Given the description of an element on the screen output the (x, y) to click on. 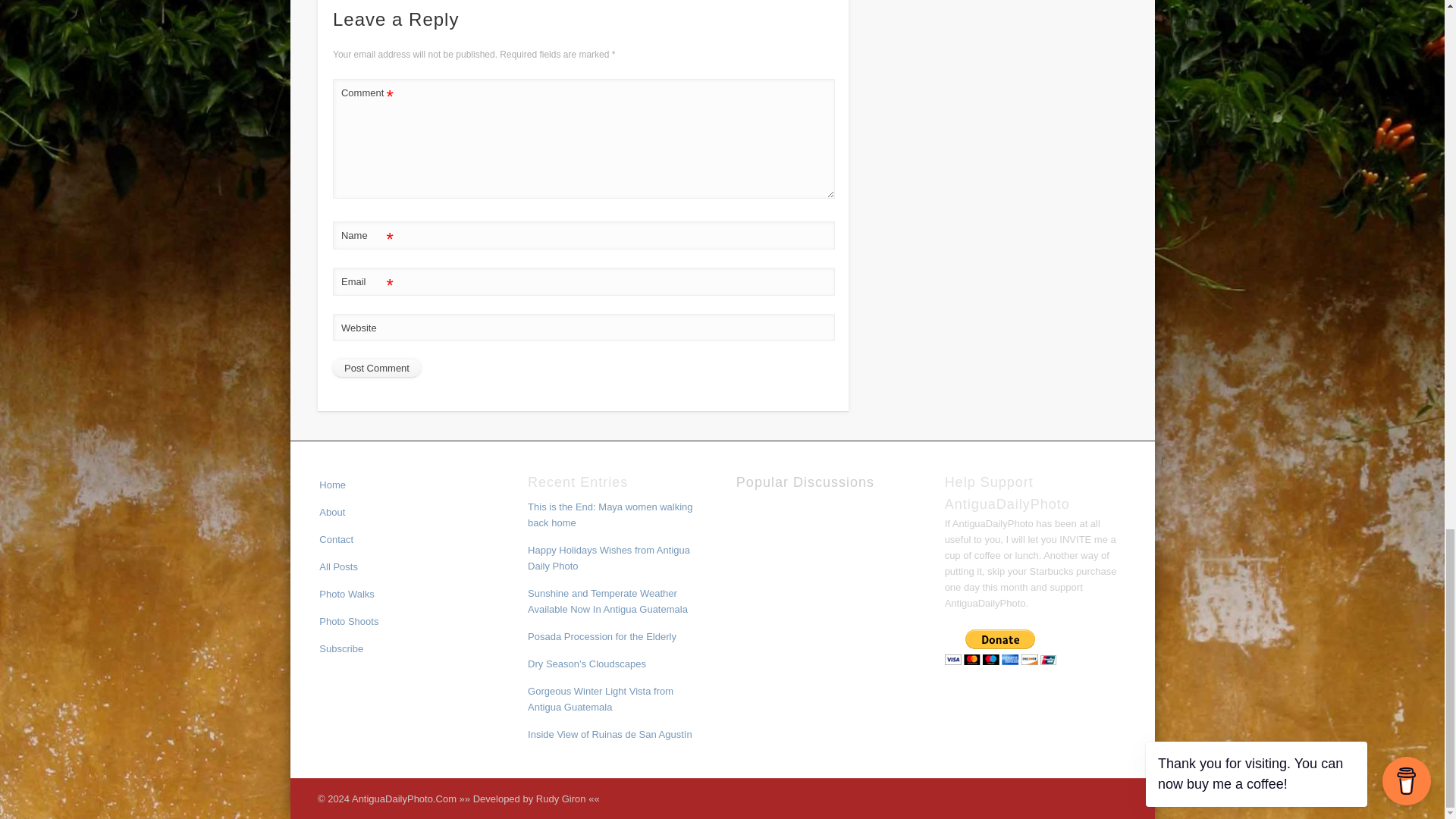
Post Comment (376, 368)
Post Comment (376, 368)
Home (332, 484)
